Given the description of an element on the screen output the (x, y) to click on. 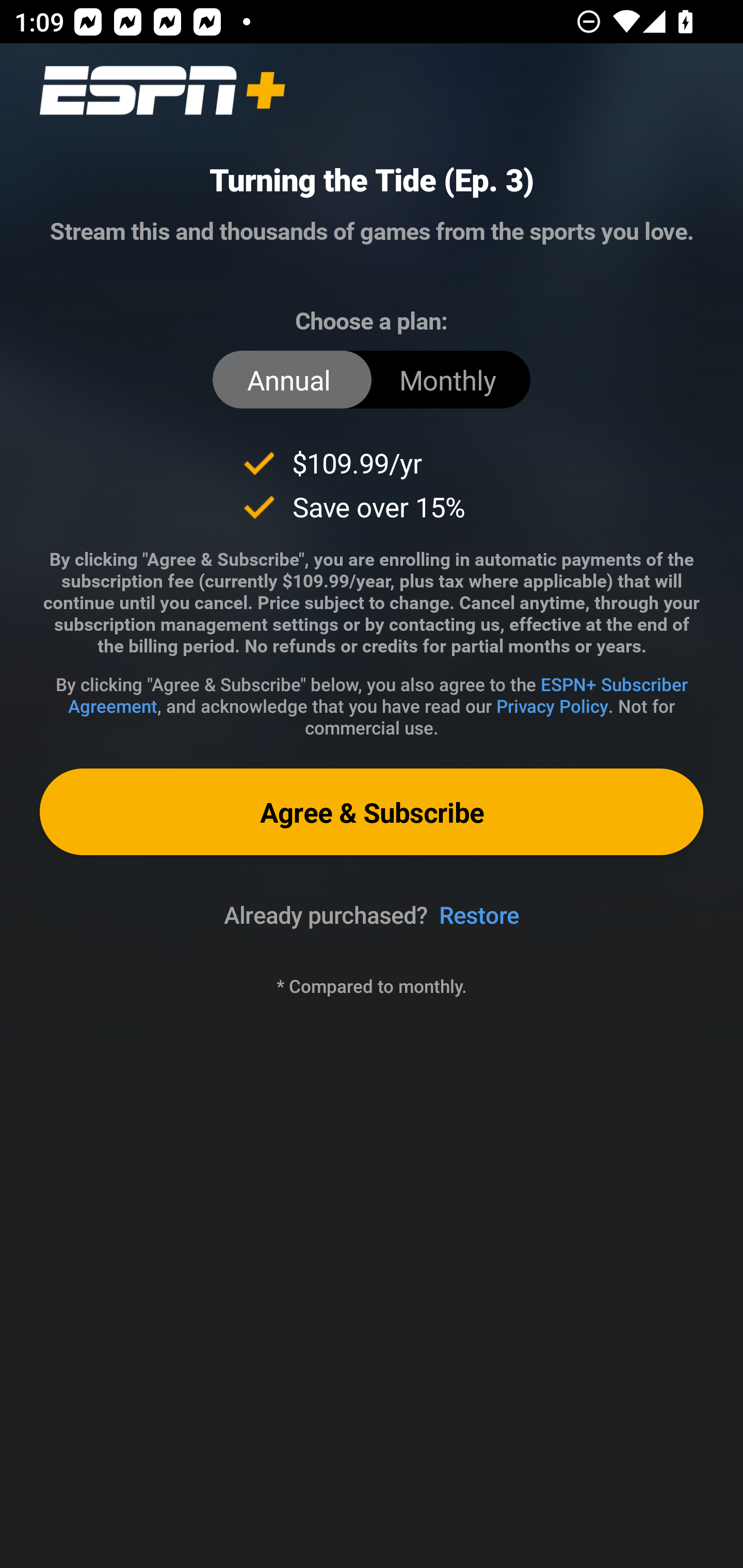
Agree & Subscribe (371, 811)
